Given the description of an element on the screen output the (x, y) to click on. 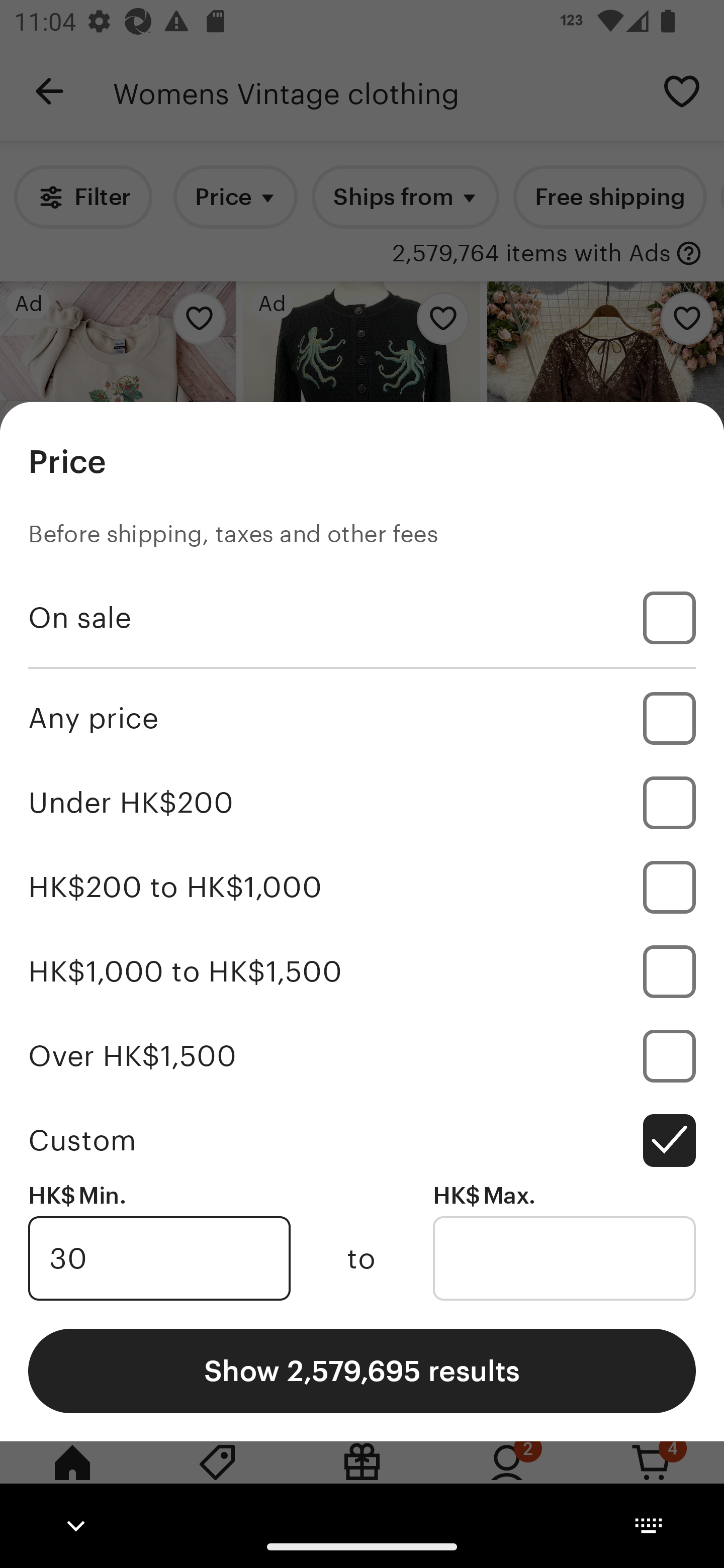
On sale (362, 617)
Any price (362, 717)
Under HK$200 (362, 802)
HK$200 to HK$1,000 (362, 887)
HK$1,000 to HK$1,500 (362, 970)
Over HK$1,500 (362, 1054)
Custom (362, 1139)
30 (159, 1257)
Show 2,579,695 results (361, 1370)
